Given the description of an element on the screen output the (x, y) to click on. 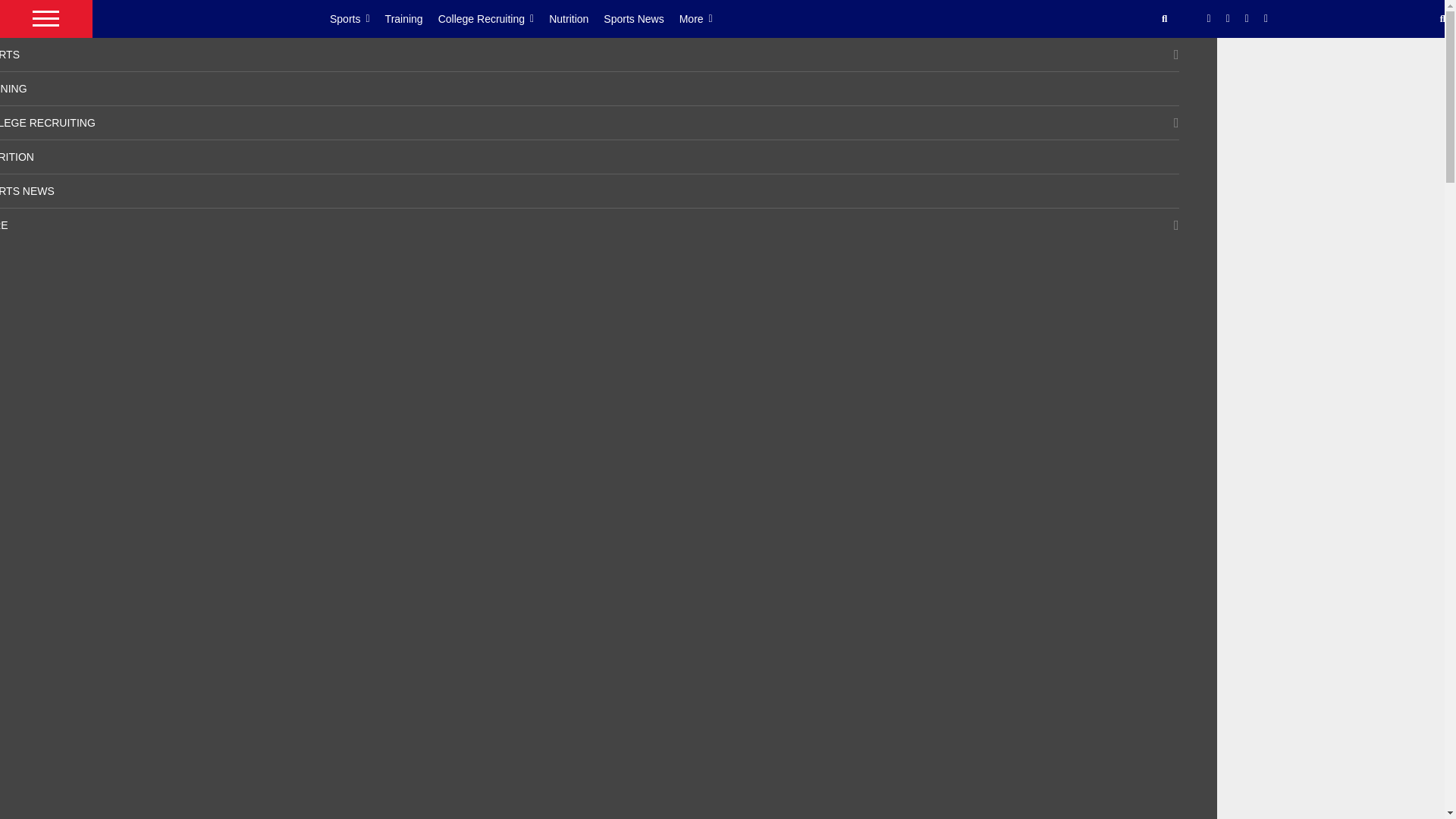
Training (411, 18)
Nutrition (576, 18)
College Recruiting (494, 18)
Sports News (641, 18)
SPORTS (10, 54)
Sports (357, 18)
More (703, 18)
